Given the description of an element on the screen output the (x, y) to click on. 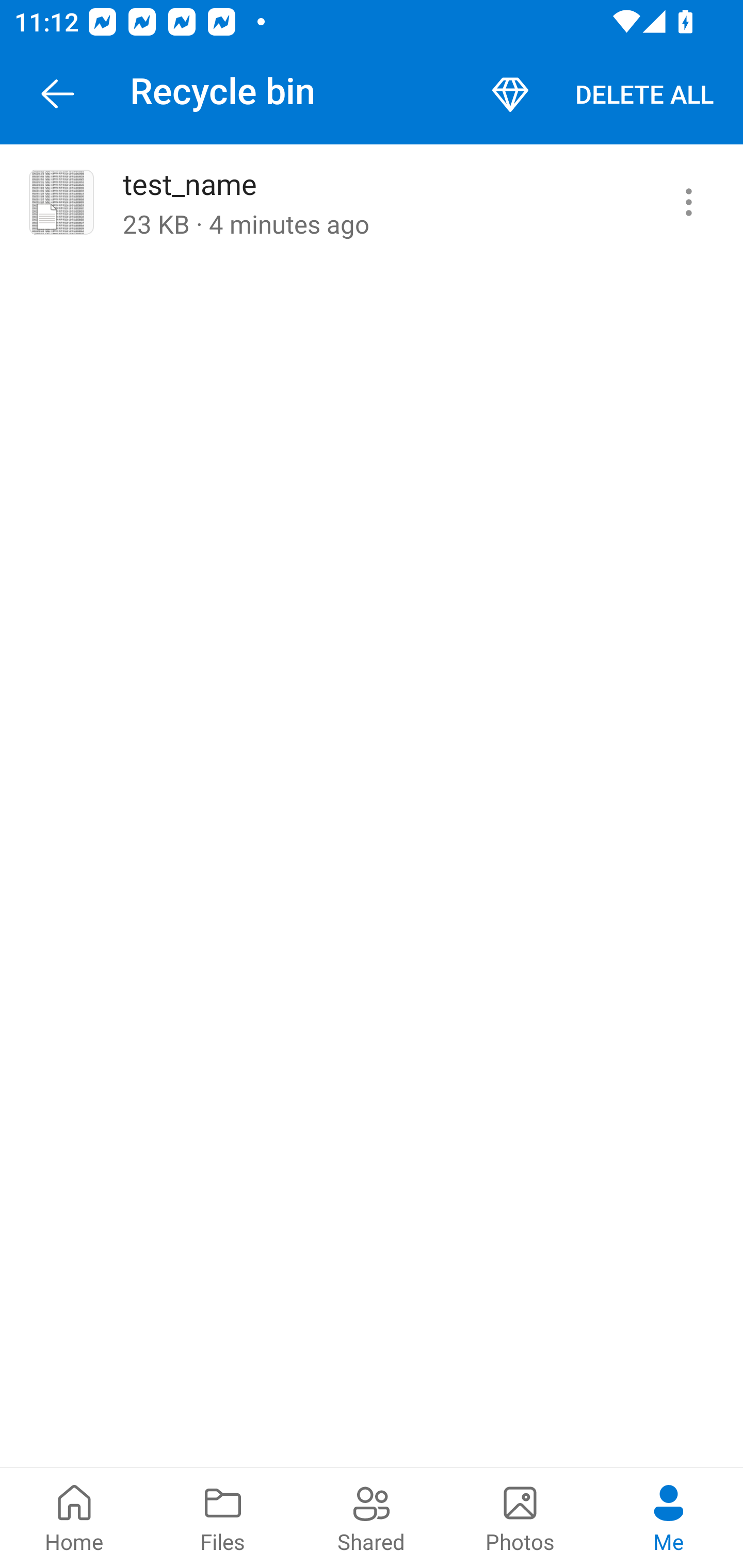
Navigate Up (57, 93)
Premium button (509, 93)
DELETE ALL Delete all button (644, 93)
test_name commands (688, 202)
Home pivot Home (74, 1517)
Files pivot Files (222, 1517)
Shared pivot Shared (371, 1517)
Photos pivot Photos (519, 1517)
